Given the description of an element on the screen output the (x, y) to click on. 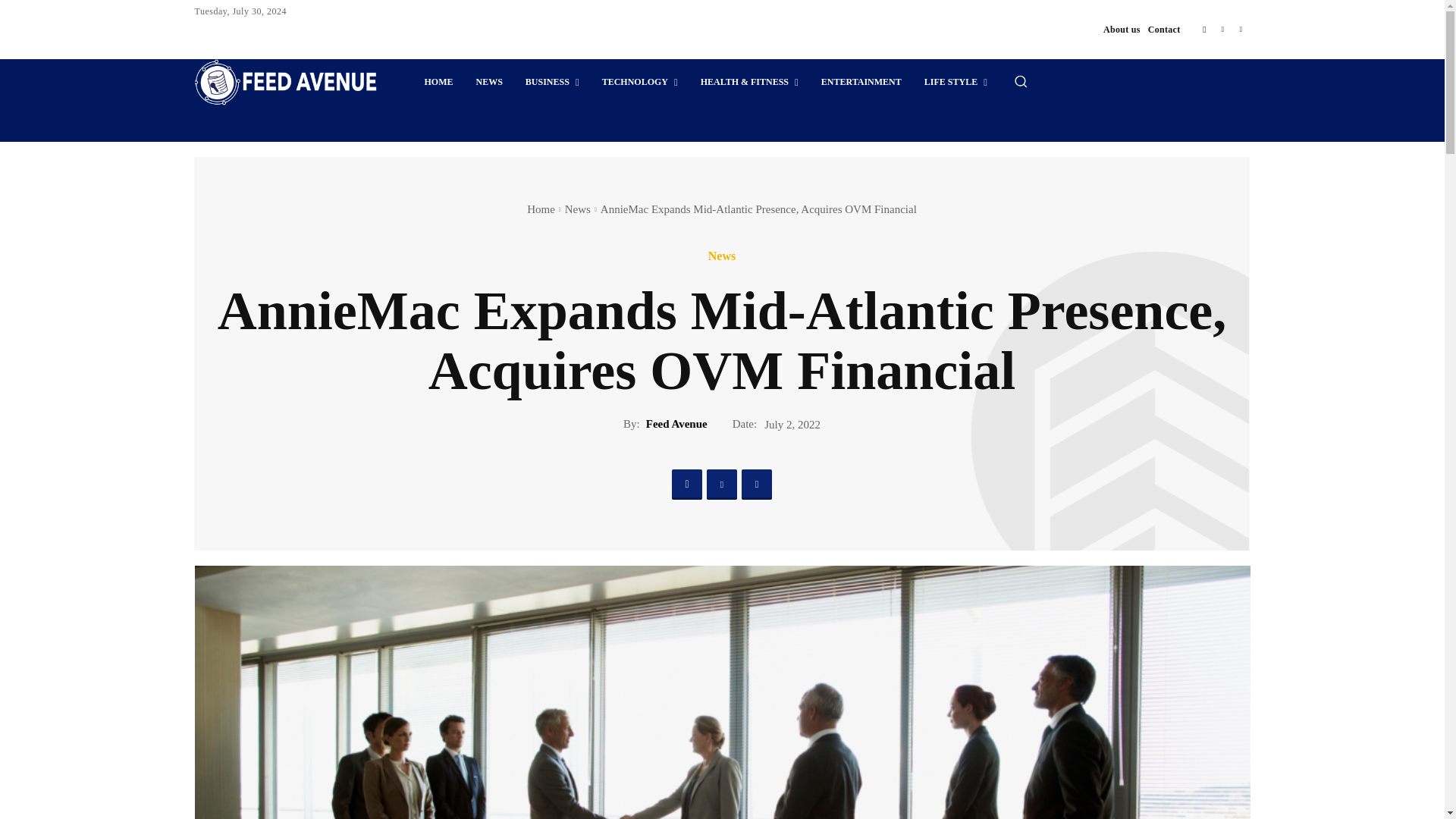
Facebook (1203, 29)
View all posts in News (577, 209)
Pinterest (1221, 29)
TECHNOLOGY (639, 81)
NEWS (488, 81)
About us (1121, 29)
BUSINESS (552, 81)
Contact (1164, 29)
HOME (438, 81)
LIFE STYLE (955, 81)
Twitter (1240, 29)
Facebook (686, 484)
ENTERTAINMENT (860, 81)
